Given the description of an element on the screen output the (x, y) to click on. 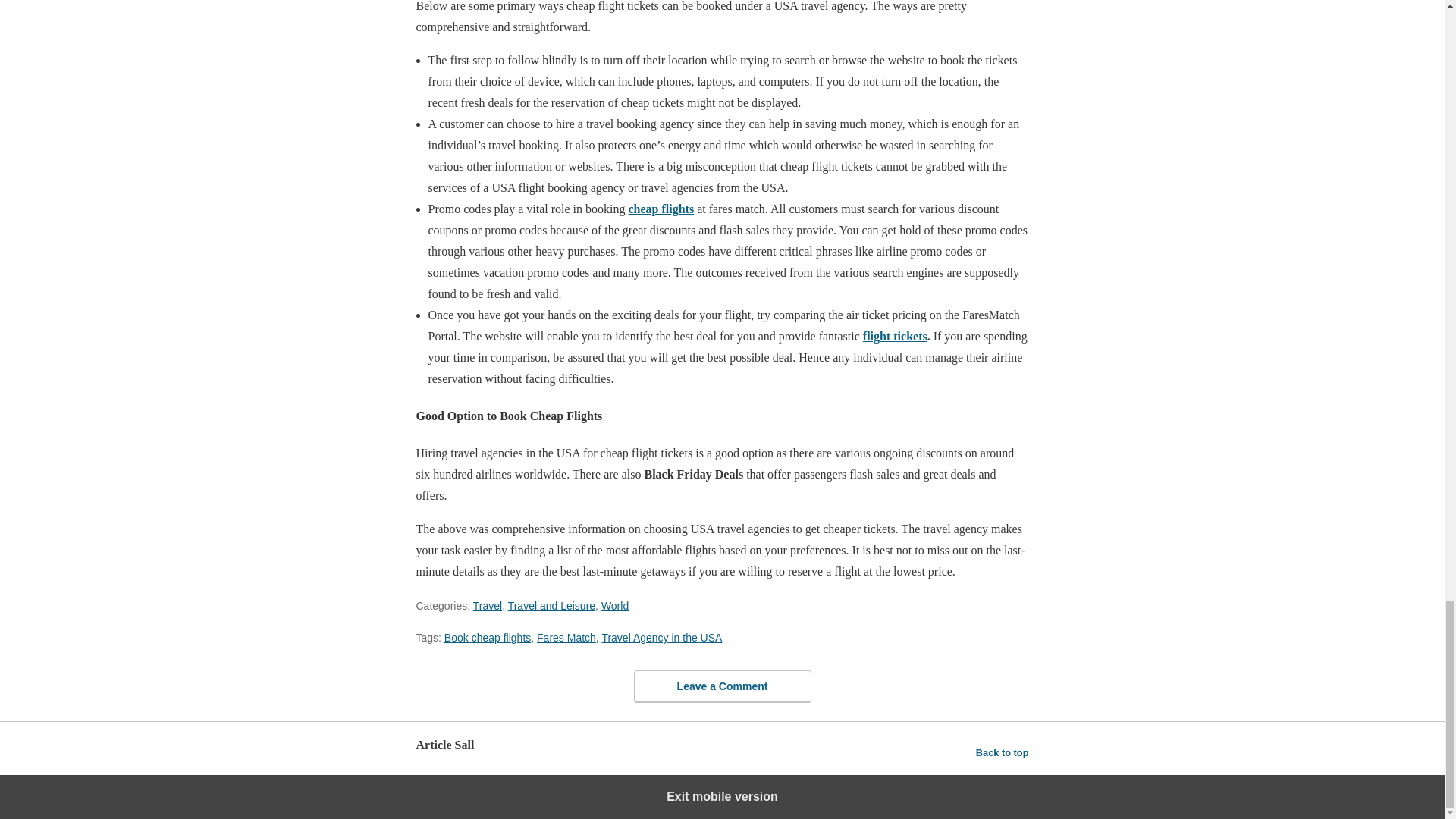
Leave a Comment (721, 686)
Back to top (1002, 752)
flight tickets (895, 336)
Fares Match (566, 637)
cheap flights (660, 208)
Travel (487, 605)
World (614, 605)
Travel Agency in the USA (661, 637)
Book cheap flights (487, 637)
Travel and Leisure (551, 605)
